Given the description of an element on the screen output the (x, y) to click on. 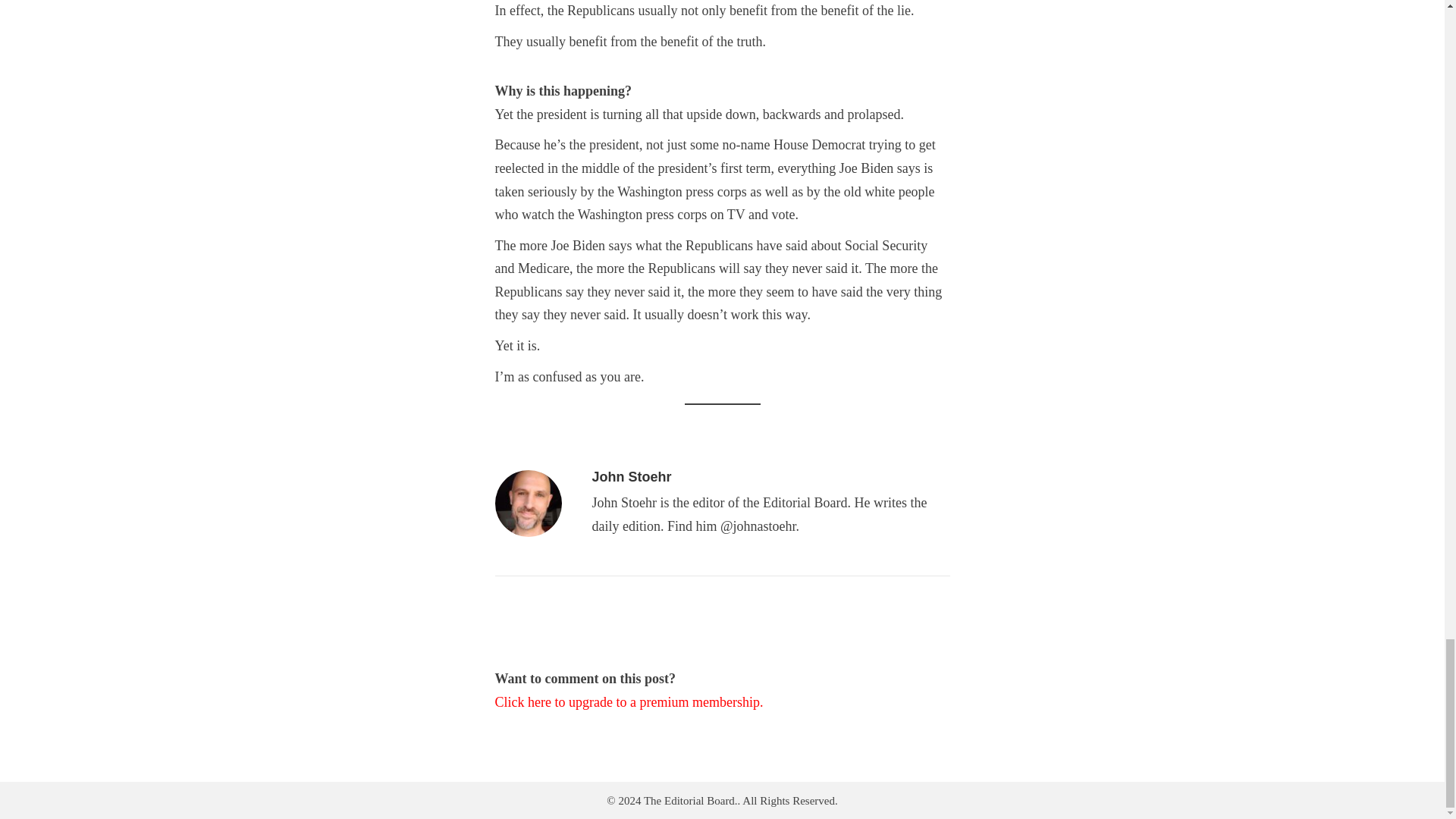
Click here to upgrade to a premium membership. (628, 702)
John Stoehr (631, 476)
